Given the description of an element on the screen output the (x, y) to click on. 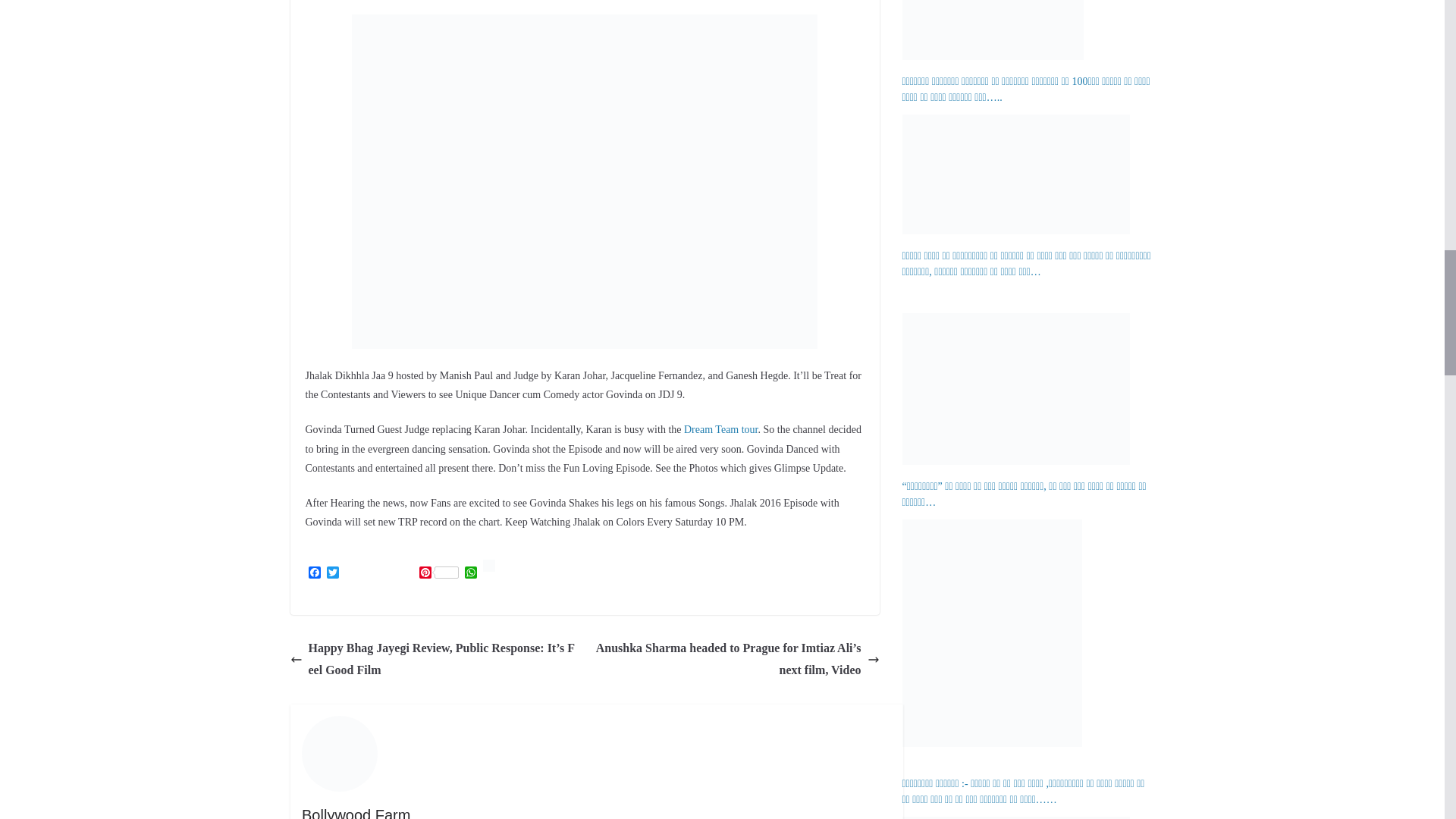
Twitter (331, 573)
Facebook (313, 573)
Dream Team tour (721, 429)
WhatsApp (470, 573)
Facebook (313, 573)
Pinterest (437, 573)
Twitter (331, 573)
WhatsApp (470, 573)
Pinterest (437, 573)
